Given the description of an element on the screen output the (x, y) to click on. 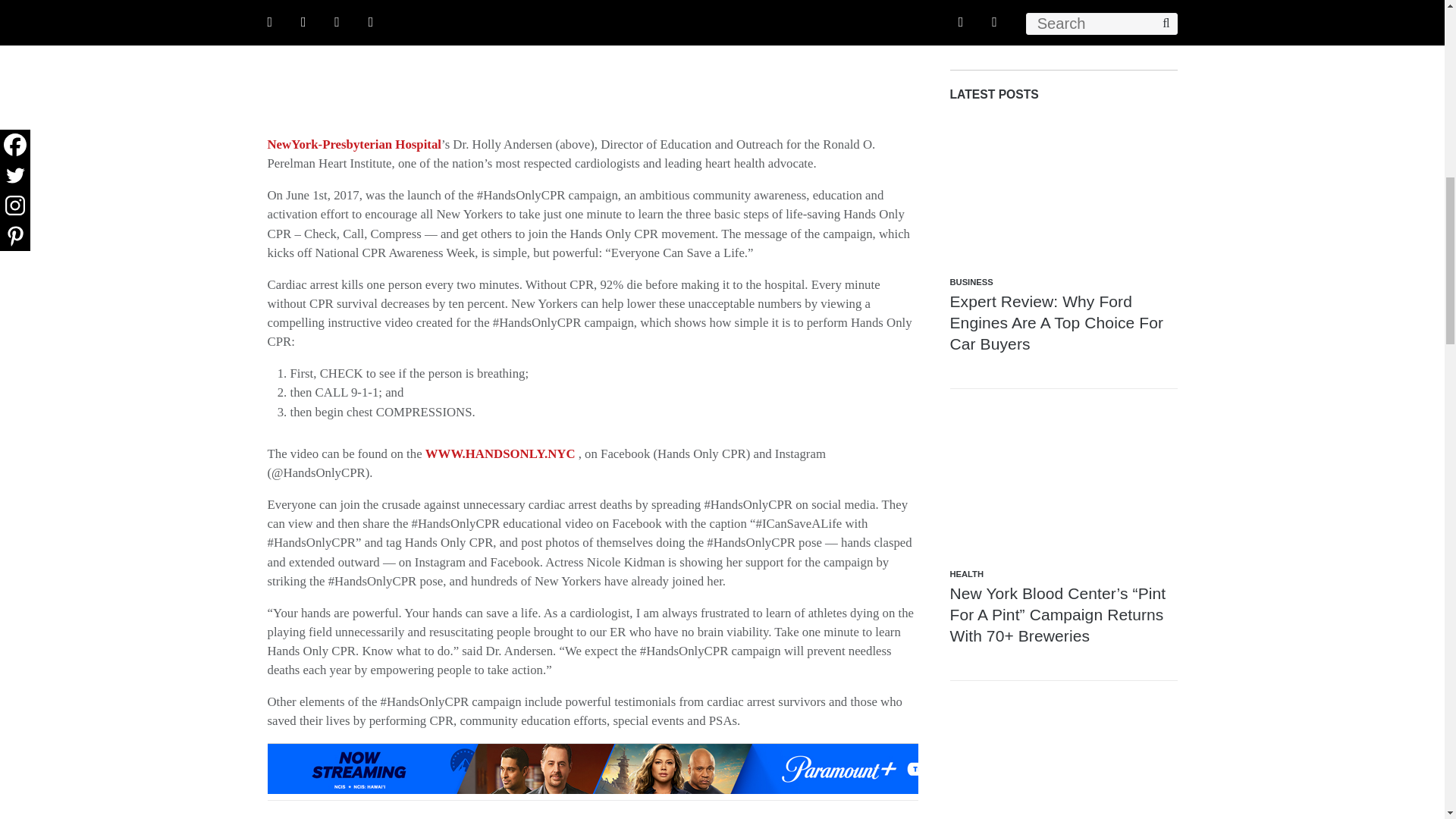
NewYork-Presbyterian Hospital (353, 144)
WWW.HANDSONLY.NYC (500, 453)
